Given the description of an element on the screen output the (x, y) to click on. 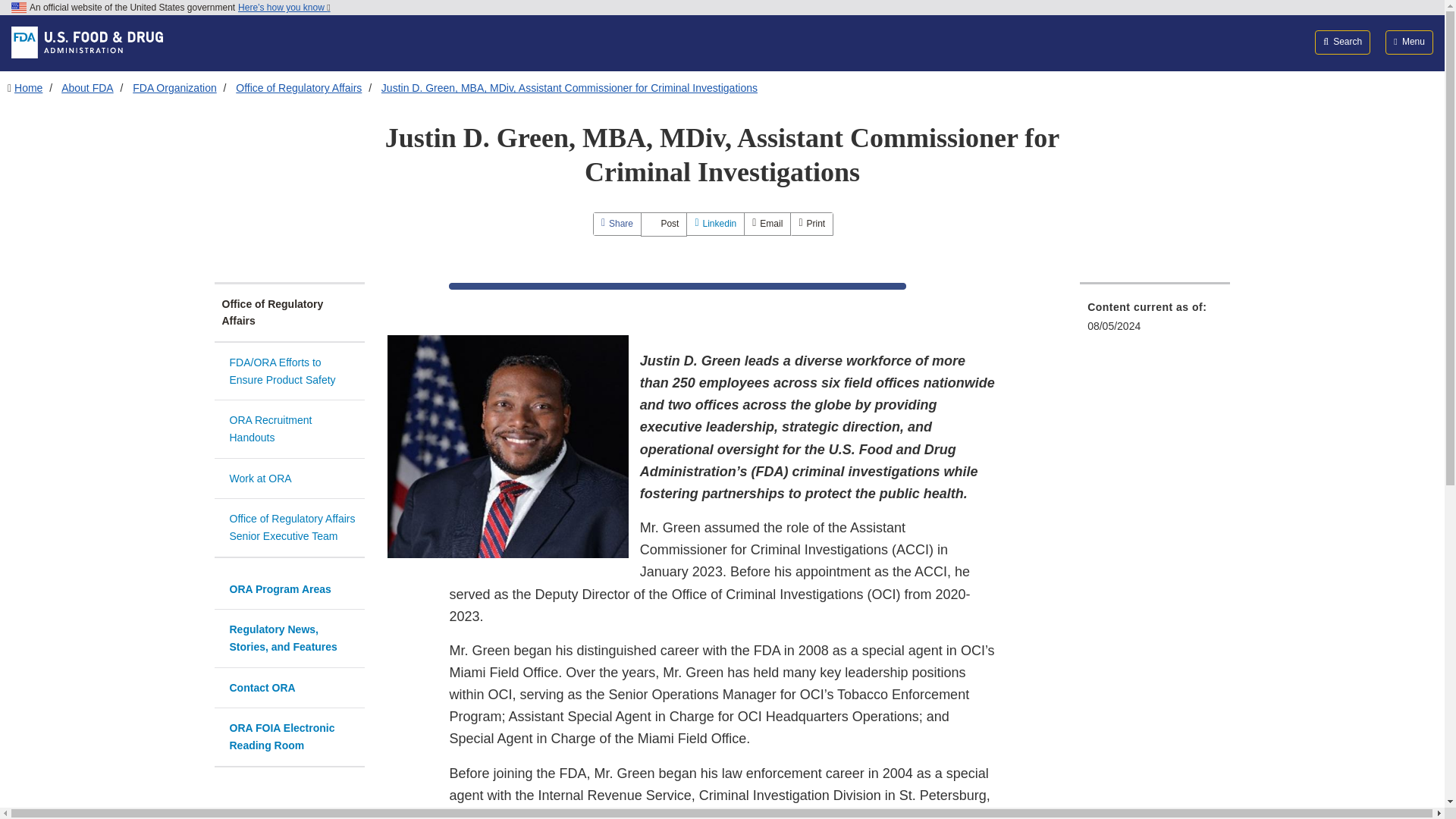
  Menu (1409, 42)
Print this page (811, 223)
Blue Bar (677, 285)
  Search (1342, 42)
Justin Green (507, 445)
